Given the description of an element on the screen output the (x, y) to click on. 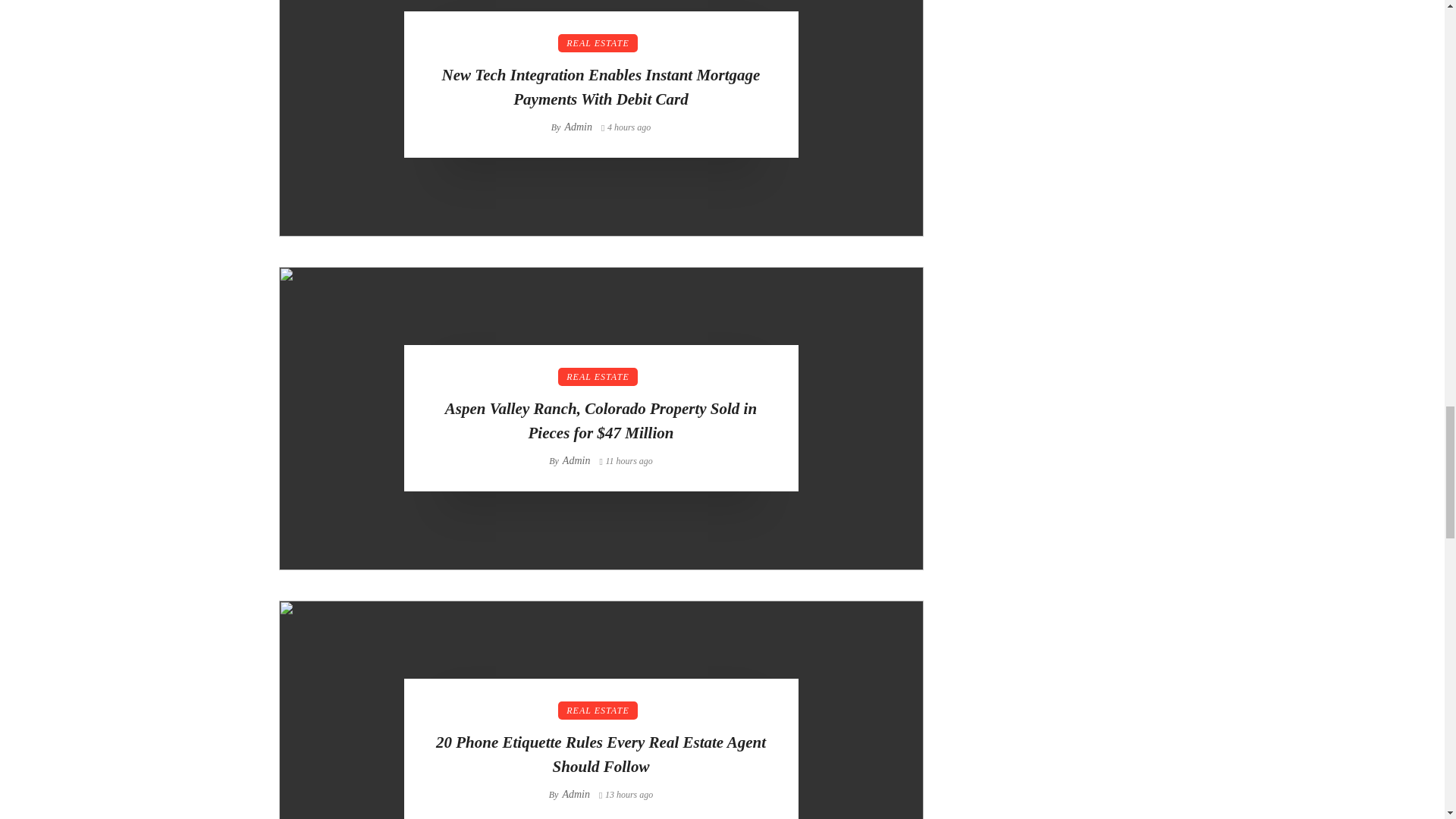
REAL ESTATE (597, 43)
